Given the description of an element on the screen output the (x, y) to click on. 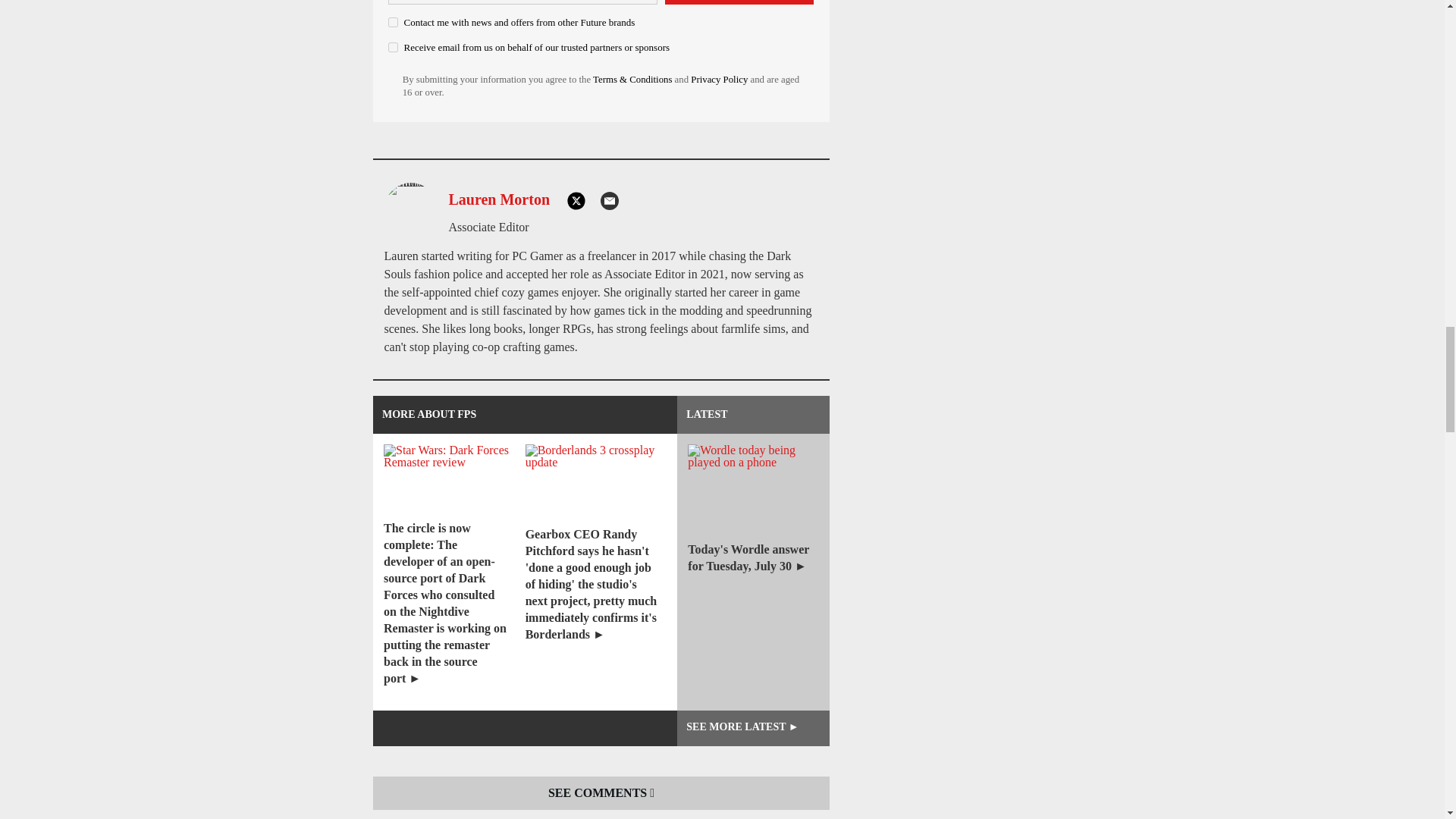
Sign me up (739, 2)
on (392, 22)
on (392, 47)
